Given the description of an element on the screen output the (x, y) to click on. 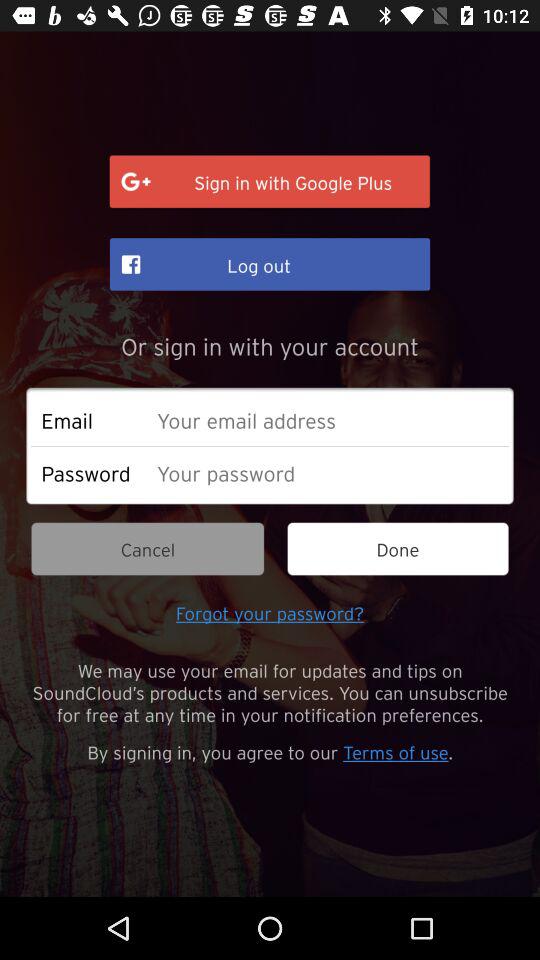
turn on log out item (269, 264)
